Given the description of an element on the screen output the (x, y) to click on. 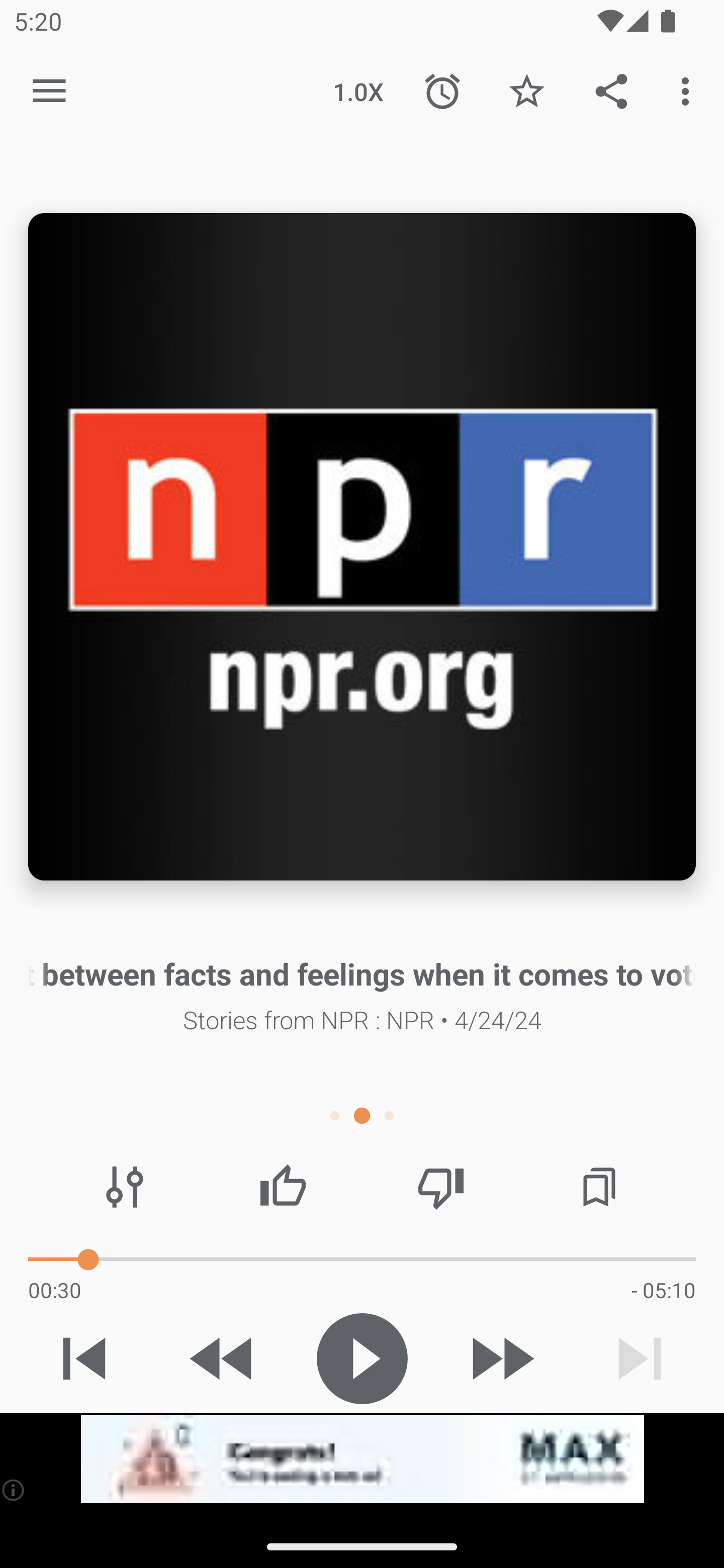
Open navigation sidebar (49, 91)
1.0X (357, 90)
Sleep Timer (442, 90)
Favorite (526, 90)
Share (611, 90)
More options (688, 90)
Episode description (361, 547)
Audio effects (124, 1186)
Thumbs up (283, 1186)
Thumbs down (440, 1186)
Chapters / Bookmarks (598, 1186)
- 05:10 (663, 1289)
Previous track (84, 1358)
Skip 15s backward (222, 1358)
Play / Pause (362, 1358)
Skip 30s forward (500, 1358)
Next track (639, 1358)
app-monetization (362, 1459)
(i) (14, 1489)
